Given the description of an element on the screen output the (x, y) to click on. 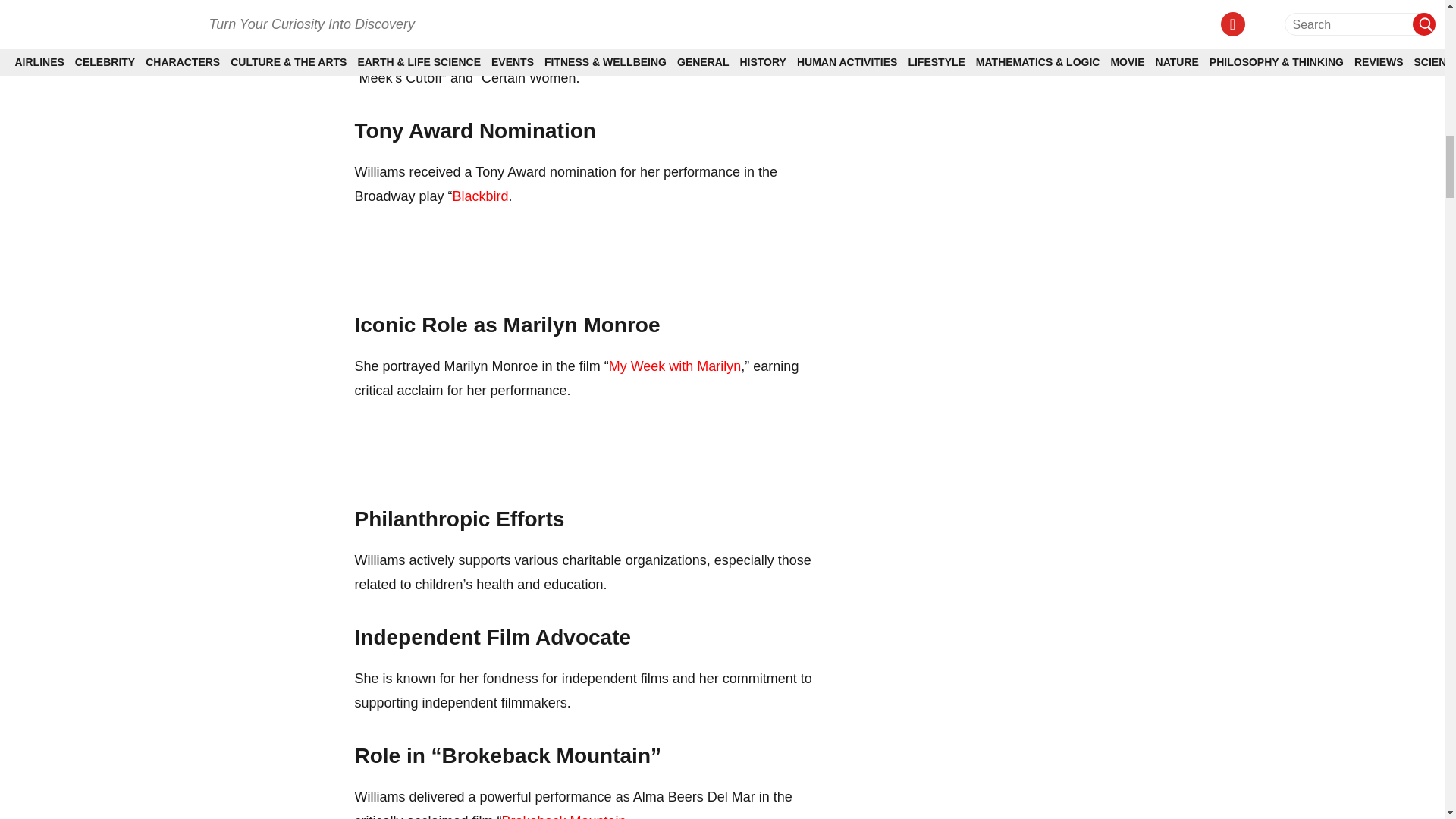
Kelly Reichardt (696, 53)
My Week with Marilyn (674, 365)
Brokeback Mountain (564, 816)
Blackbird (480, 196)
